Given the description of an element on the screen output the (x, y) to click on. 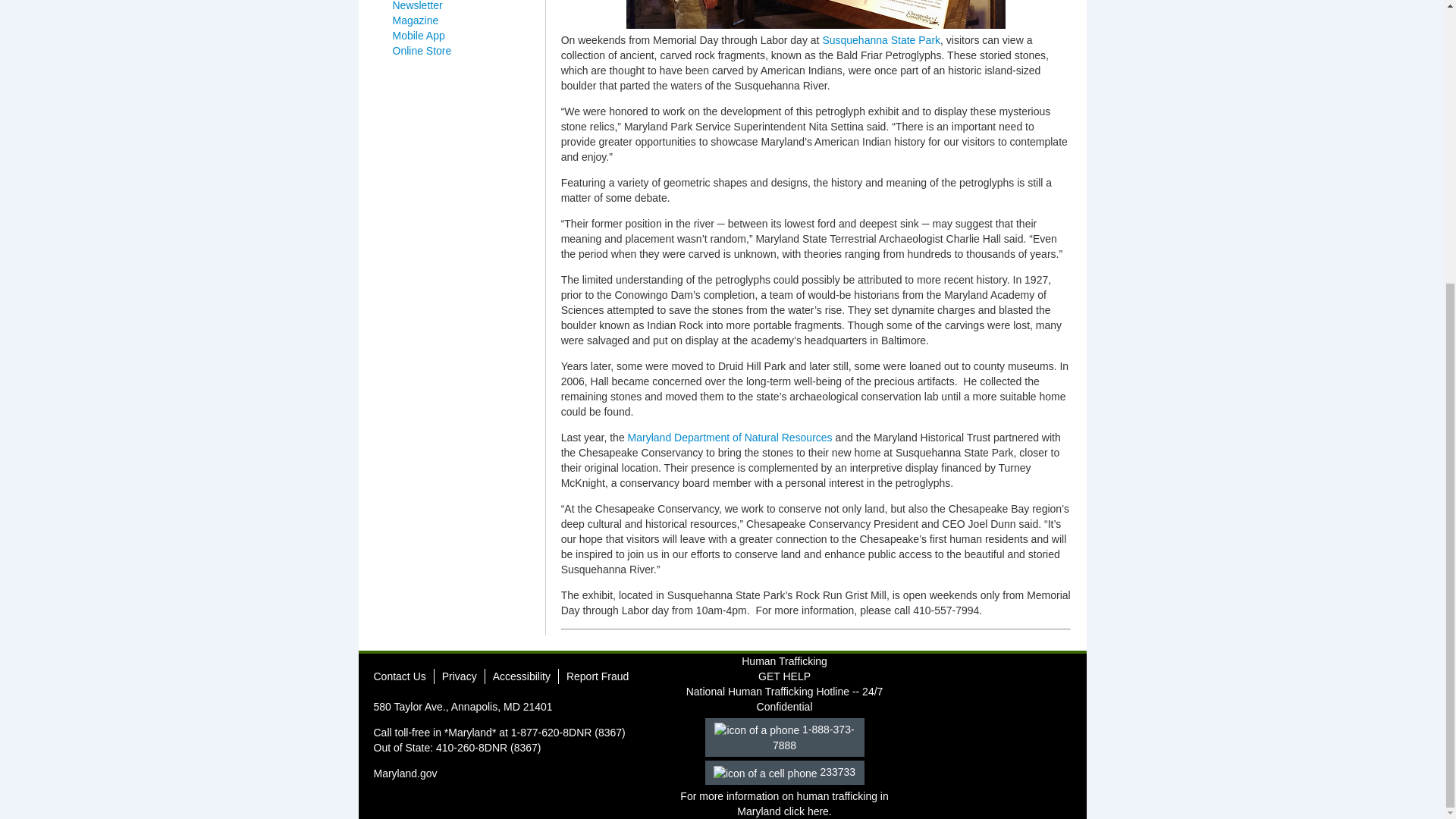
Susquehanna State Park (881, 39)
Newsletter (417, 5)
Online Store (422, 50)
Contact Us (398, 676)
Instagram (986, 680)
Privacy (459, 676)
Mobile App (419, 35)
YouTube (1014, 680)
Twitter (958, 680)
Flickr (1042, 680)
